Given the description of an element on the screen output the (x, y) to click on. 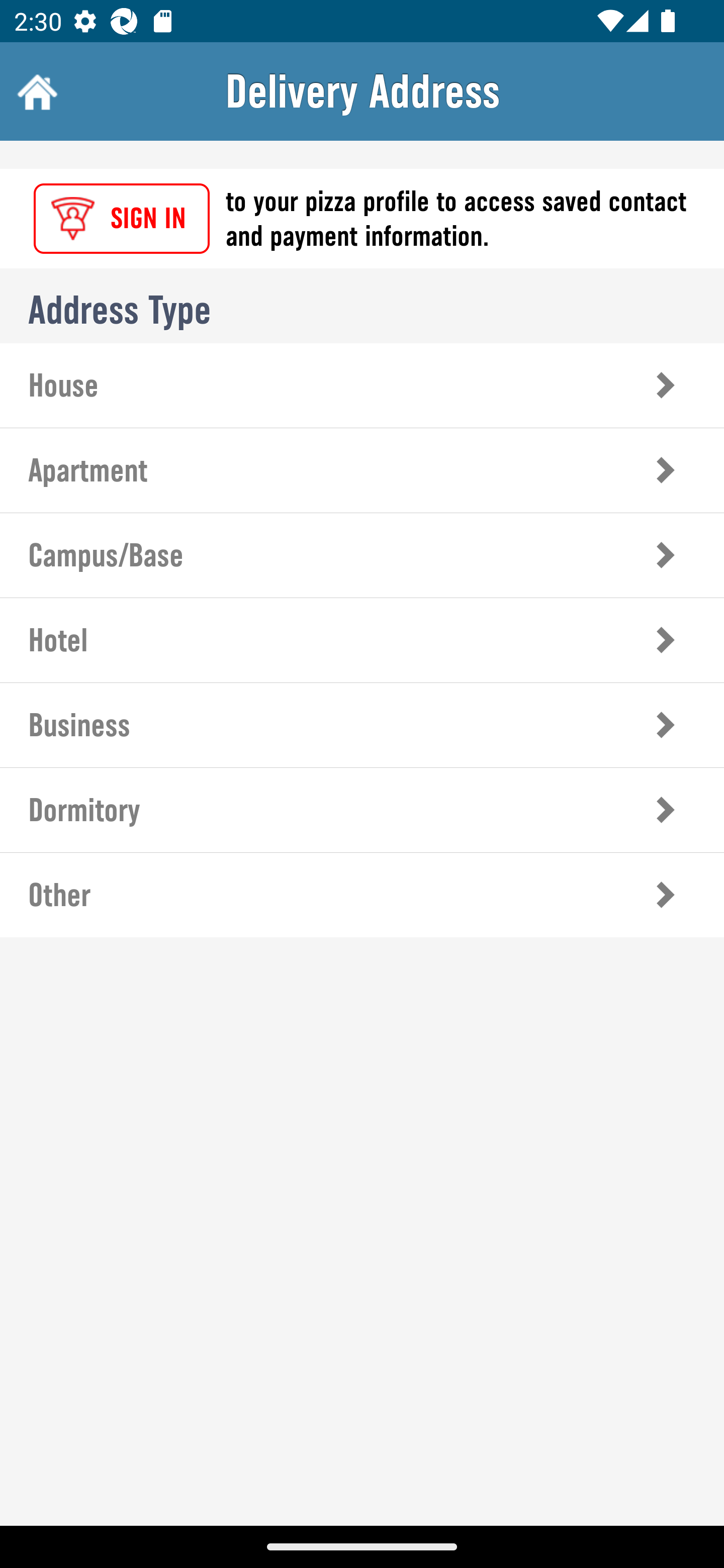
Home (35, 91)
SIGN IN (121, 218)
1 of 7, House House Address Details (362, 385)
2 of 7, Apartment Apartment Address Details (362, 470)
3 of 7, Campus/Base Campus/Base Address Details (362, 554)
4 of 7, Hotel Hotel Address Details (362, 639)
5 of 7, Business Business Address Details (362, 724)
6 of 7, Dormitory Dormitory Address Details (362, 810)
7 of 7, Other Other Address Details (362, 894)
